Given the description of an element on the screen output the (x, y) to click on. 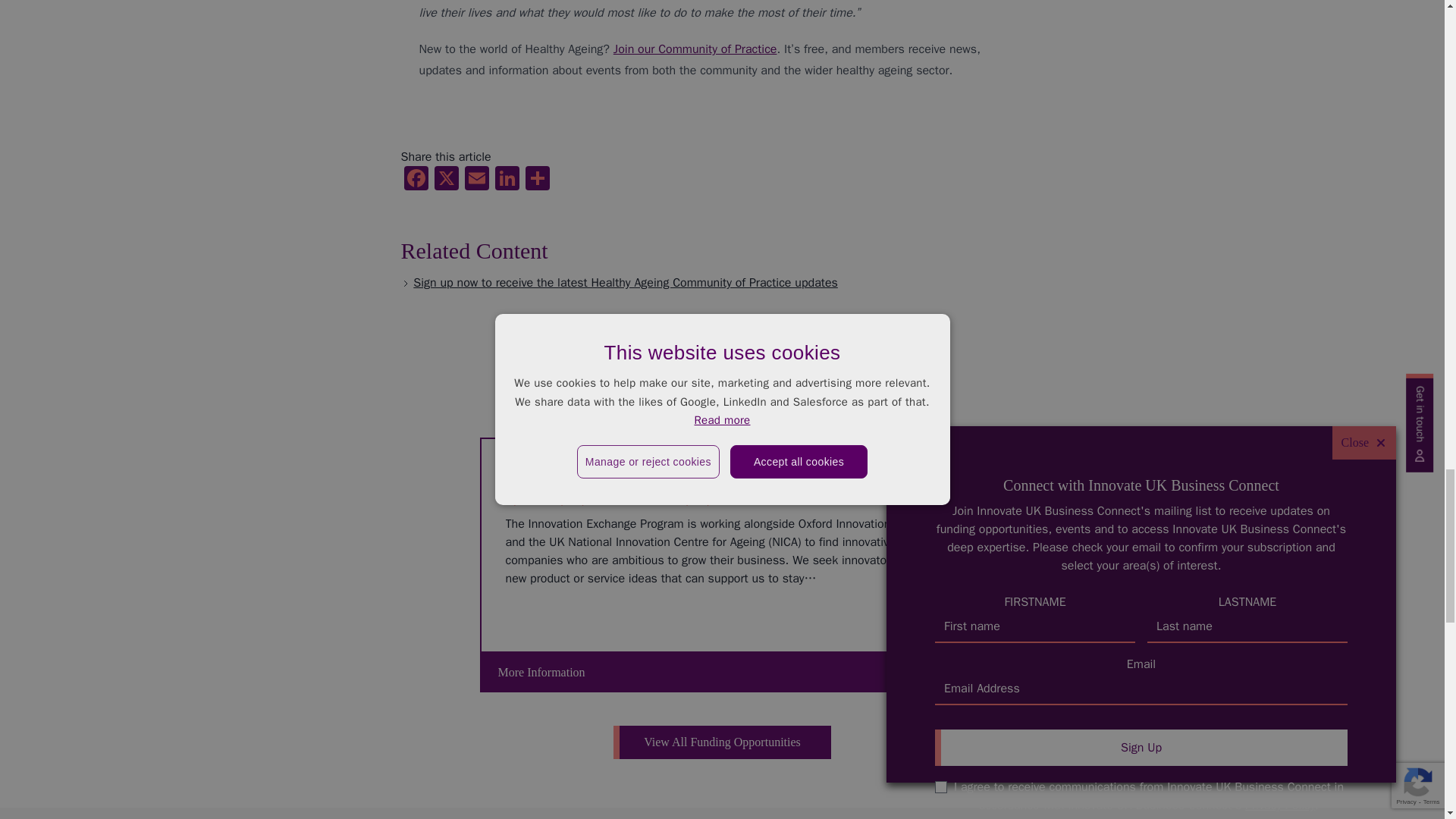
Facebook (415, 180)
LinkedIn (506, 180)
Email (476, 180)
X (445, 180)
